Given the description of an element on the screen output the (x, y) to click on. 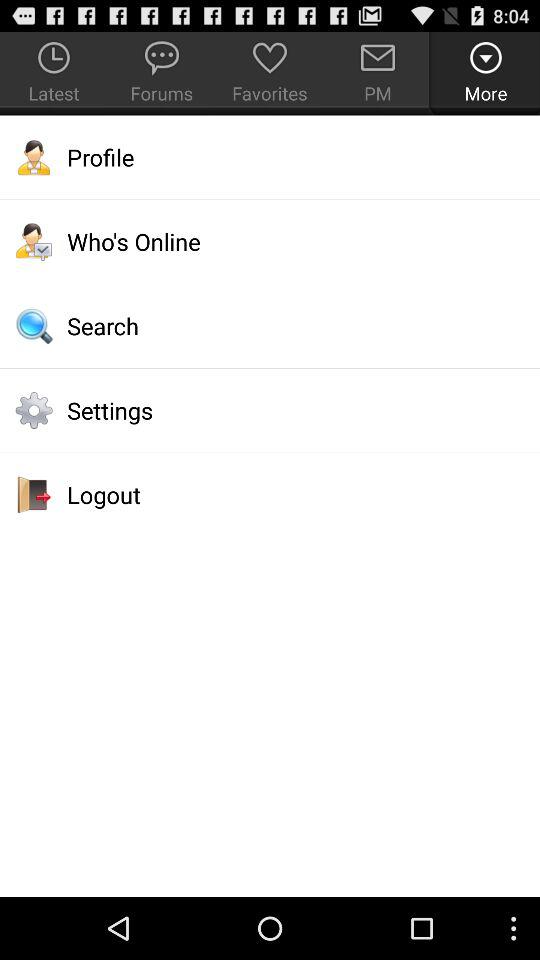
turn off the   profile (270, 157)
